Given the description of an element on the screen output the (x, y) to click on. 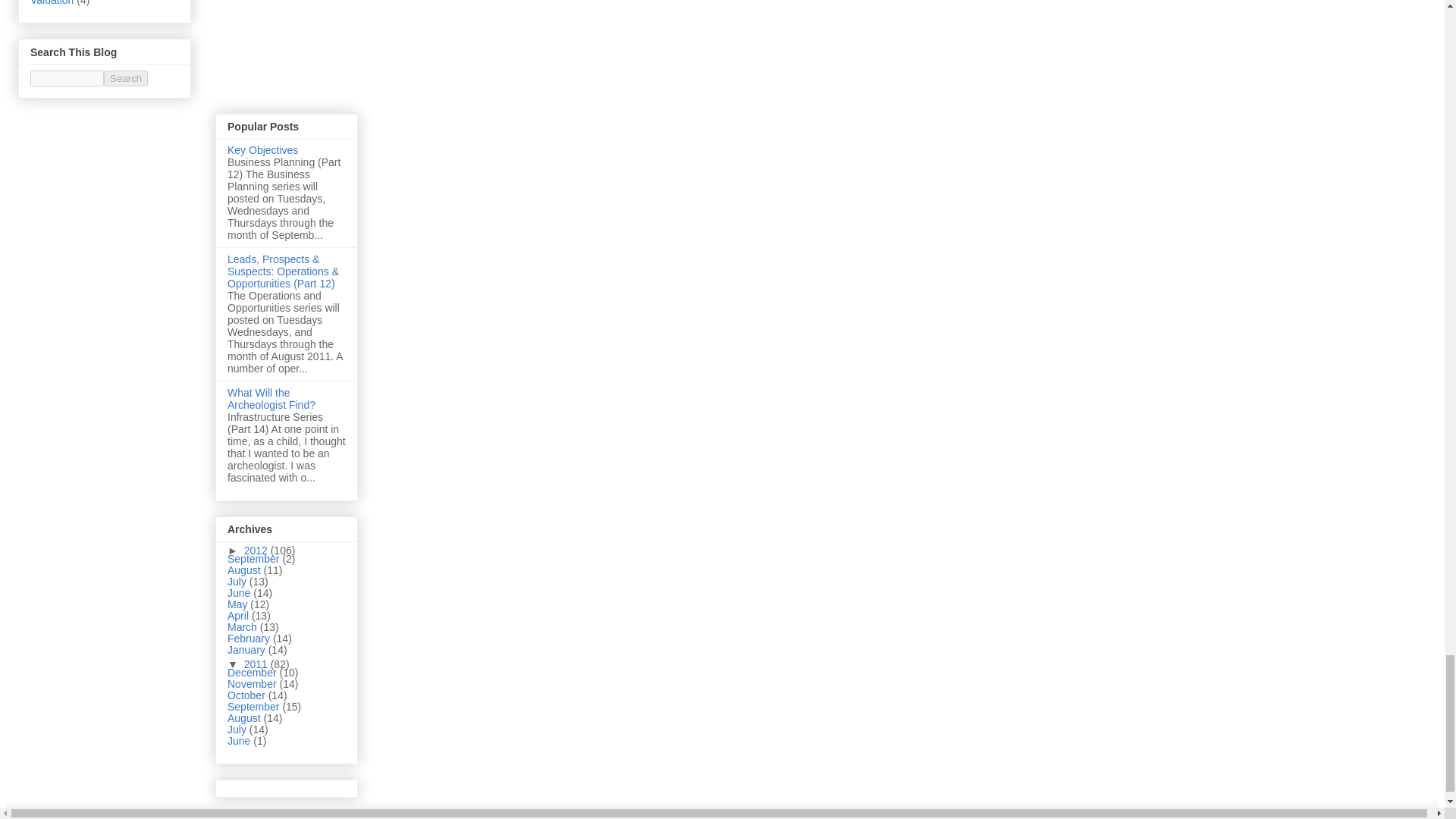
Search (125, 78)
Search (125, 78)
